Given the description of an element on the screen output the (x, y) to click on. 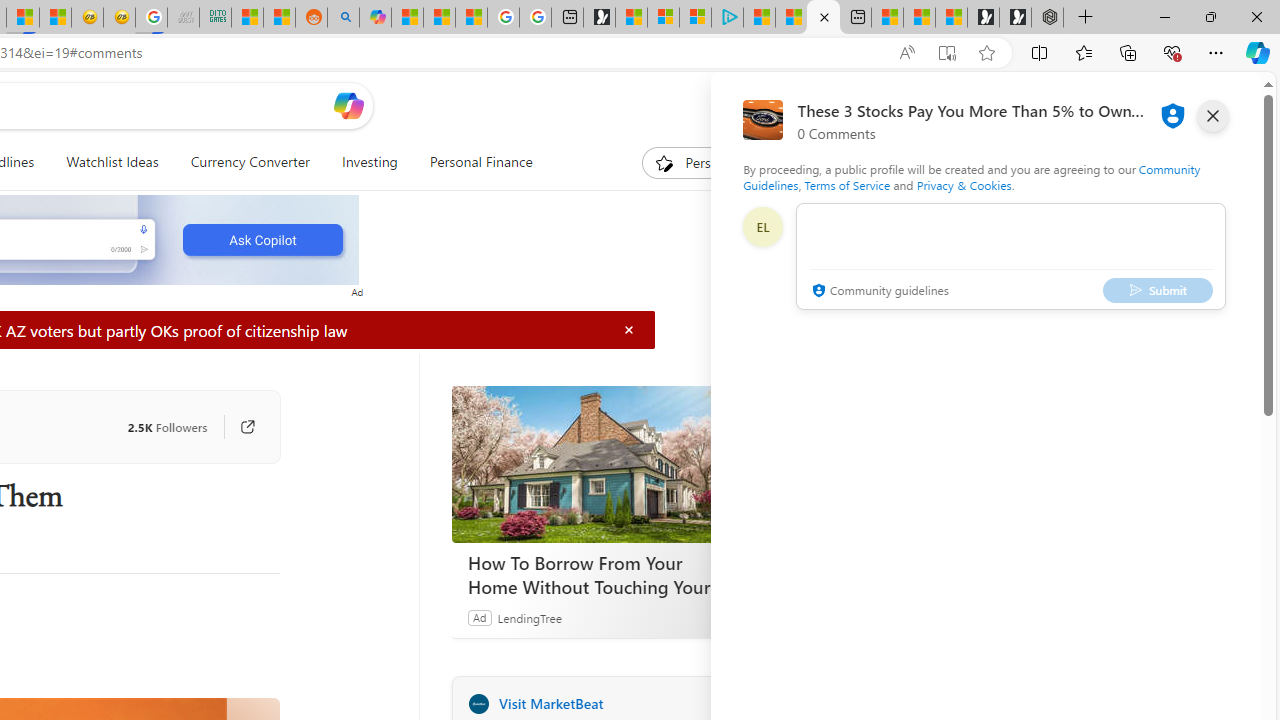
Submit (1158, 290)
Navy Quest (182, 17)
Open settings (1216, 105)
Nordace - Nordace Siena Is Not An Ordinary Backpack (1047, 17)
Personal Finance (480, 162)
Profile Picture (762, 226)
